Given the description of an element on the screen output the (x, y) to click on. 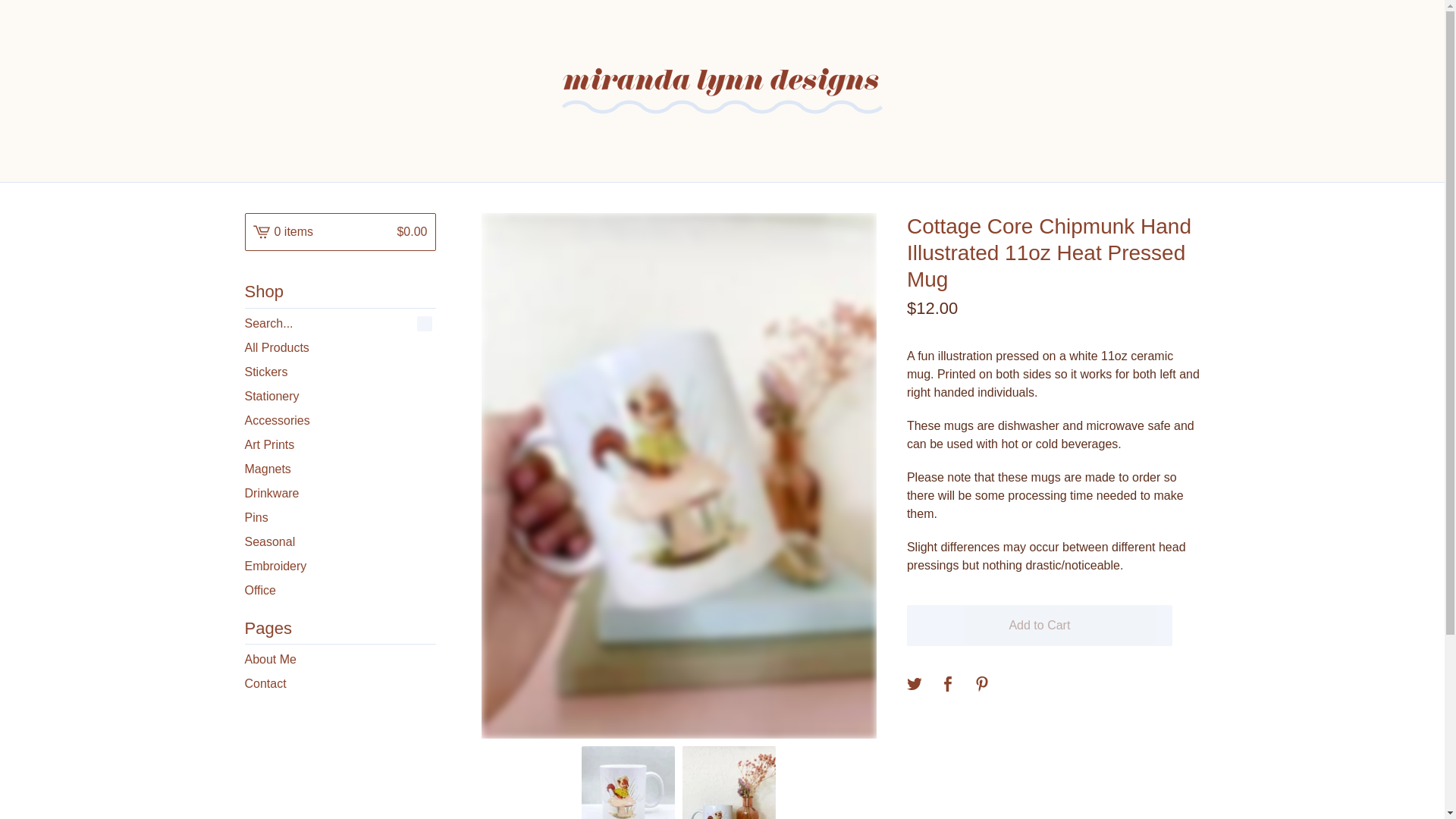
Miranda Lynn (721, 90)
Stationery (339, 396)
View Stationery (339, 396)
View Embroidery (339, 566)
Accessories (339, 420)
View Drinkware (339, 493)
View Stickers (339, 372)
View Seasonal (339, 541)
Drinkware (339, 493)
View Contact (339, 683)
View Magnets (339, 469)
View Pins (339, 517)
View Accessories (339, 420)
Art Prints (339, 445)
Seasonal (339, 541)
